Given the description of an element on the screen output the (x, y) to click on. 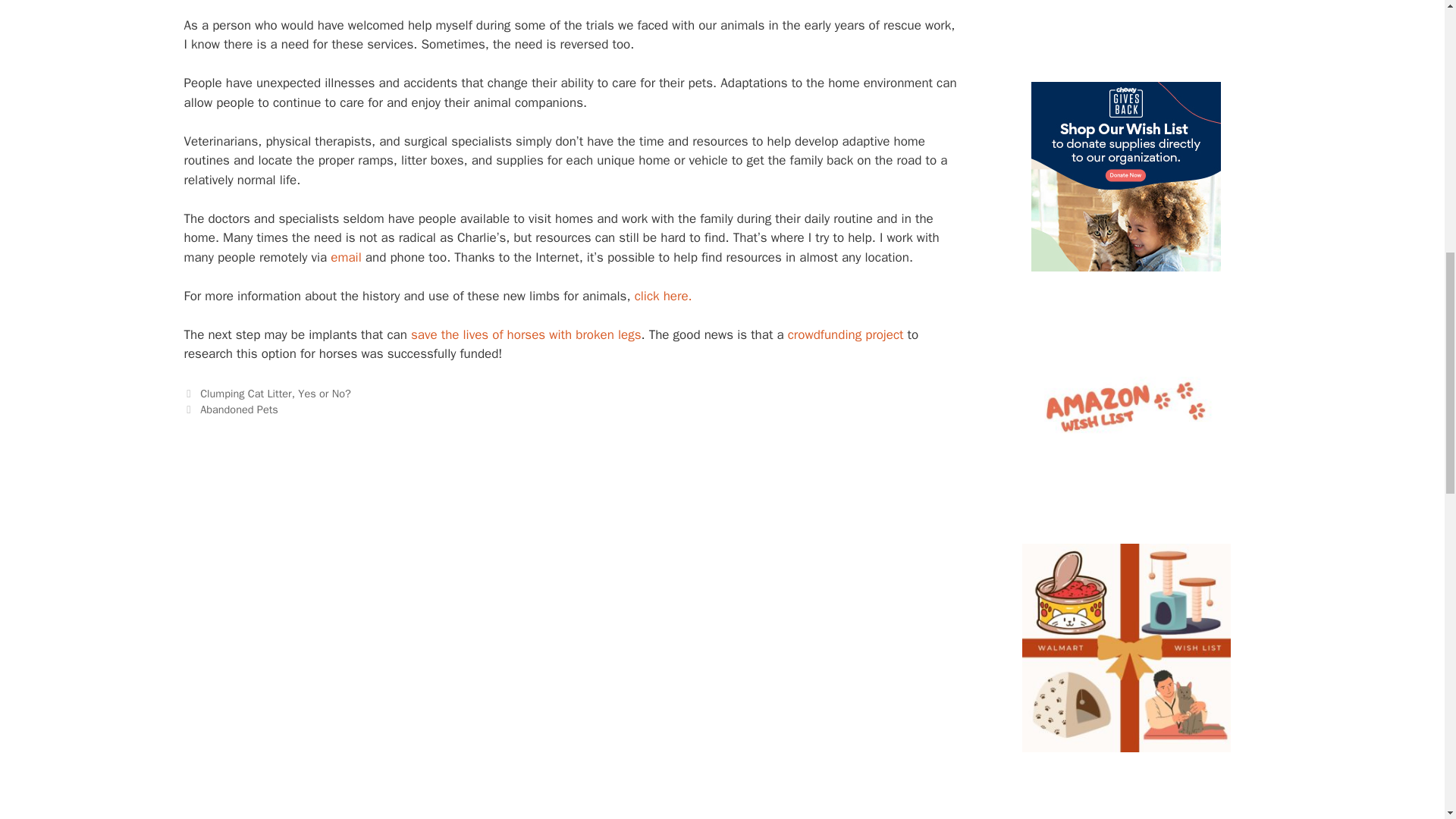
Prosthetic Limbs for Dogs and Cats (663, 295)
Can bionic legs save horses (524, 334)
Are implanted prosthetic legs for horses possible (845, 334)
penny (1126, 404)
